Given the description of an element on the screen output the (x, y) to click on. 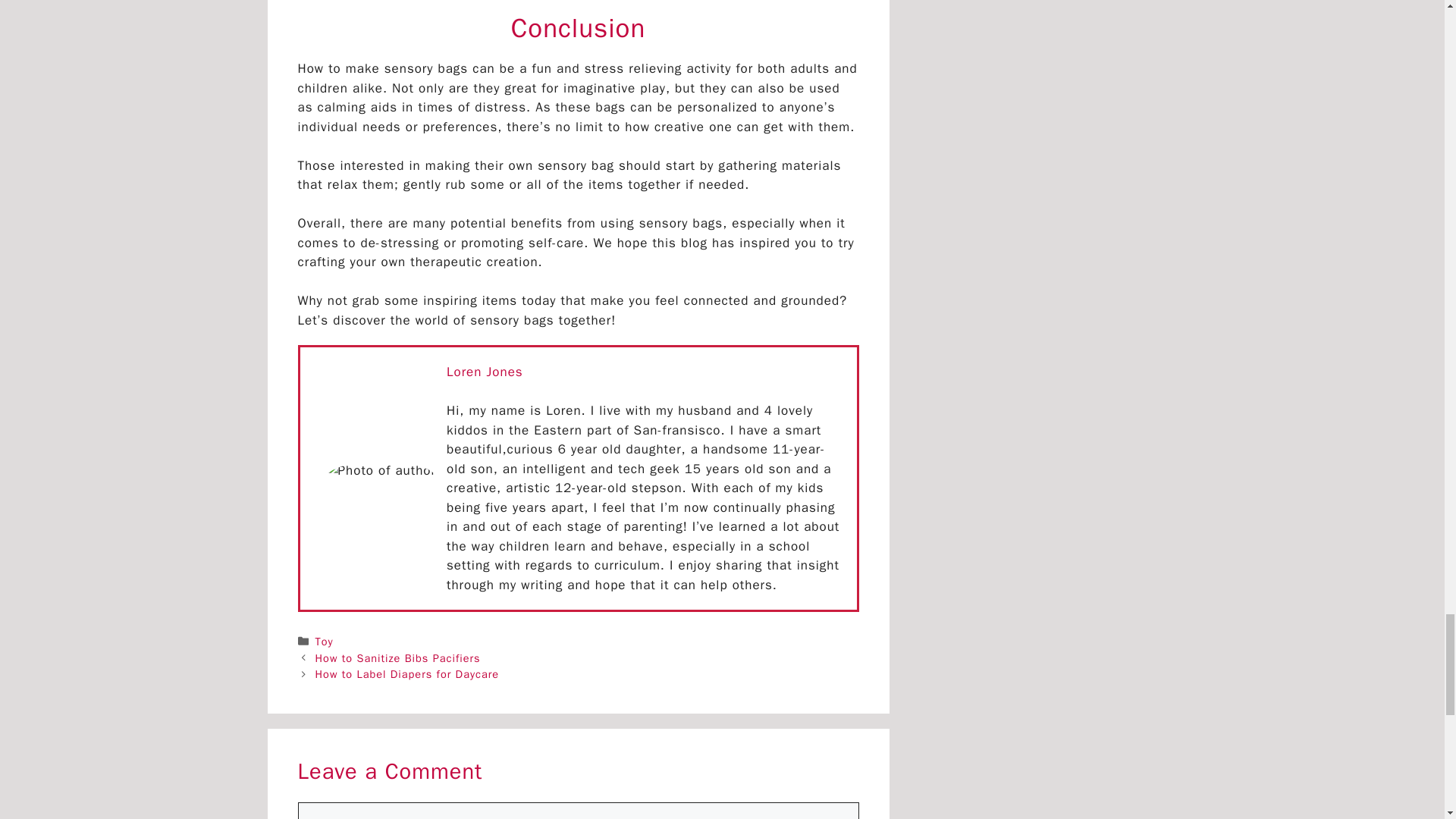
Loren Jones (484, 371)
Toy (324, 641)
How to Label Diapers for Daycare (407, 673)
How to Sanitize Bibs Pacifiers (397, 658)
